Given the description of an element on the screen output the (x, y) to click on. 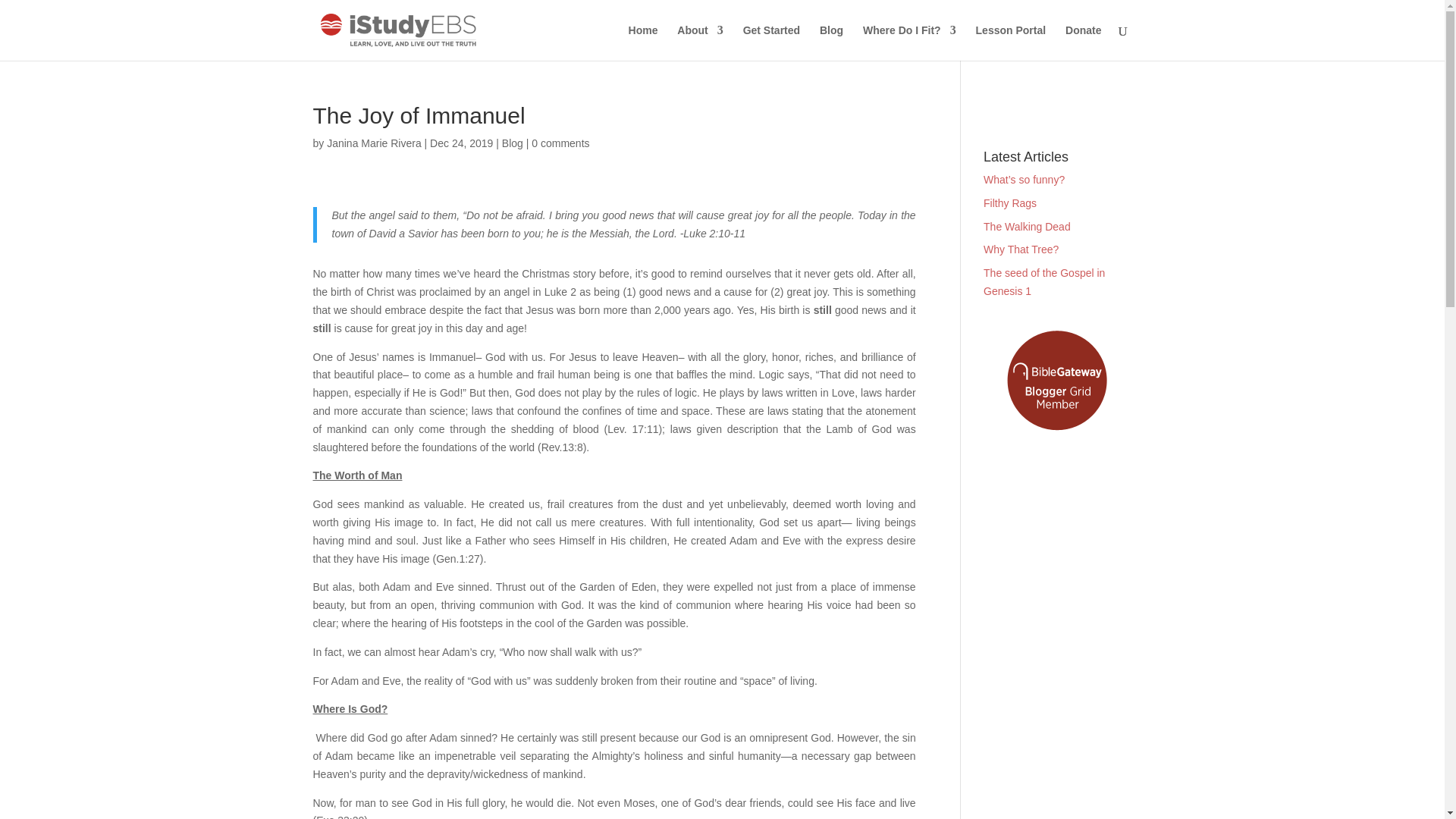
Janina Marie Rivera (374, 143)
Where Do I Fit? (909, 42)
Donate (1082, 42)
Blog (512, 143)
About (699, 42)
Posts by Janina Marie Rivera (374, 143)
Lesson Portal (1010, 42)
Filthy Rags (1010, 203)
Get Started (770, 42)
0 comments (560, 143)
